Given the description of an element on the screen output the (x, y) to click on. 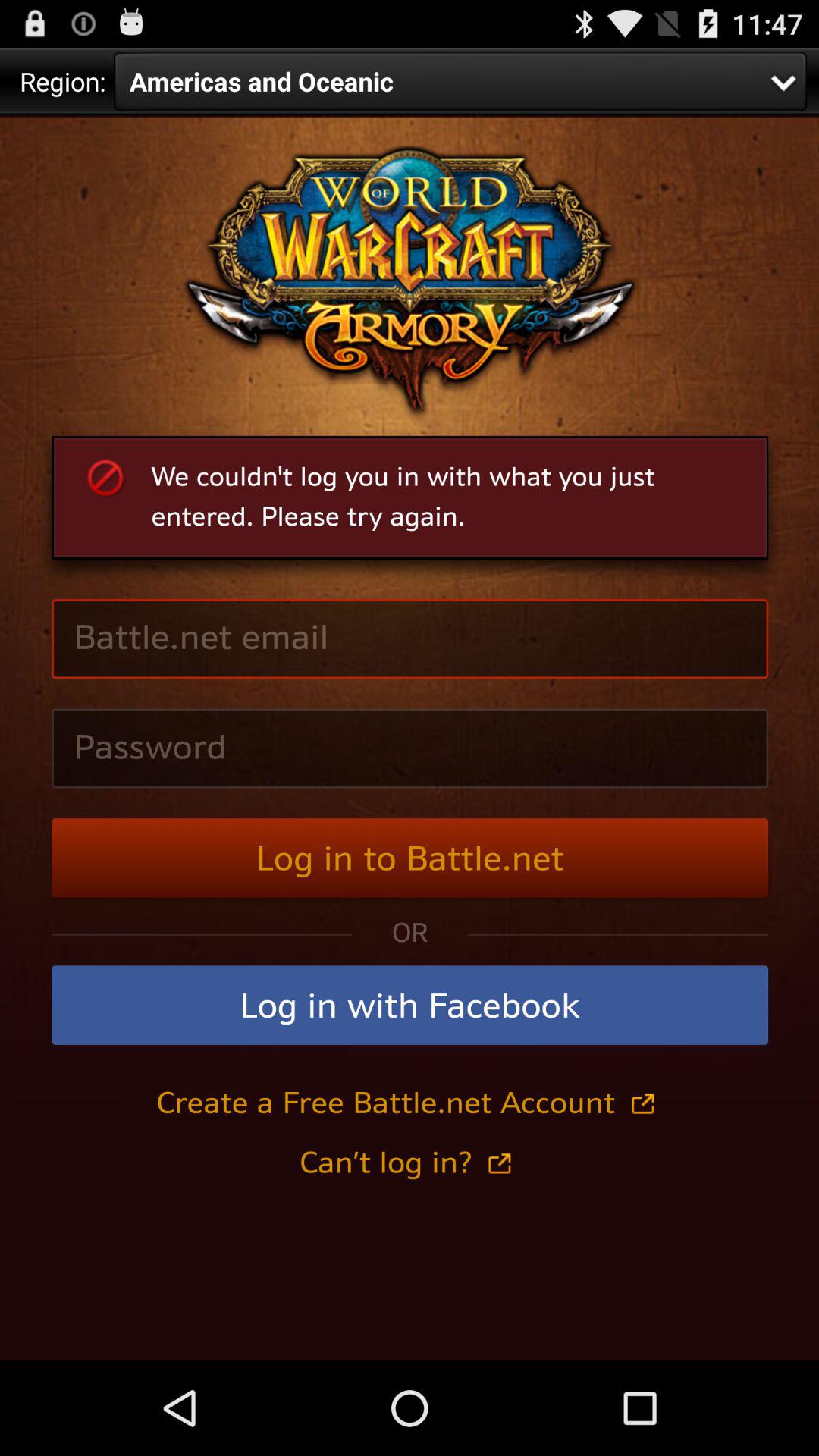
world warcraft armory (409, 737)
